Given the description of an element on the screen output the (x, y) to click on. 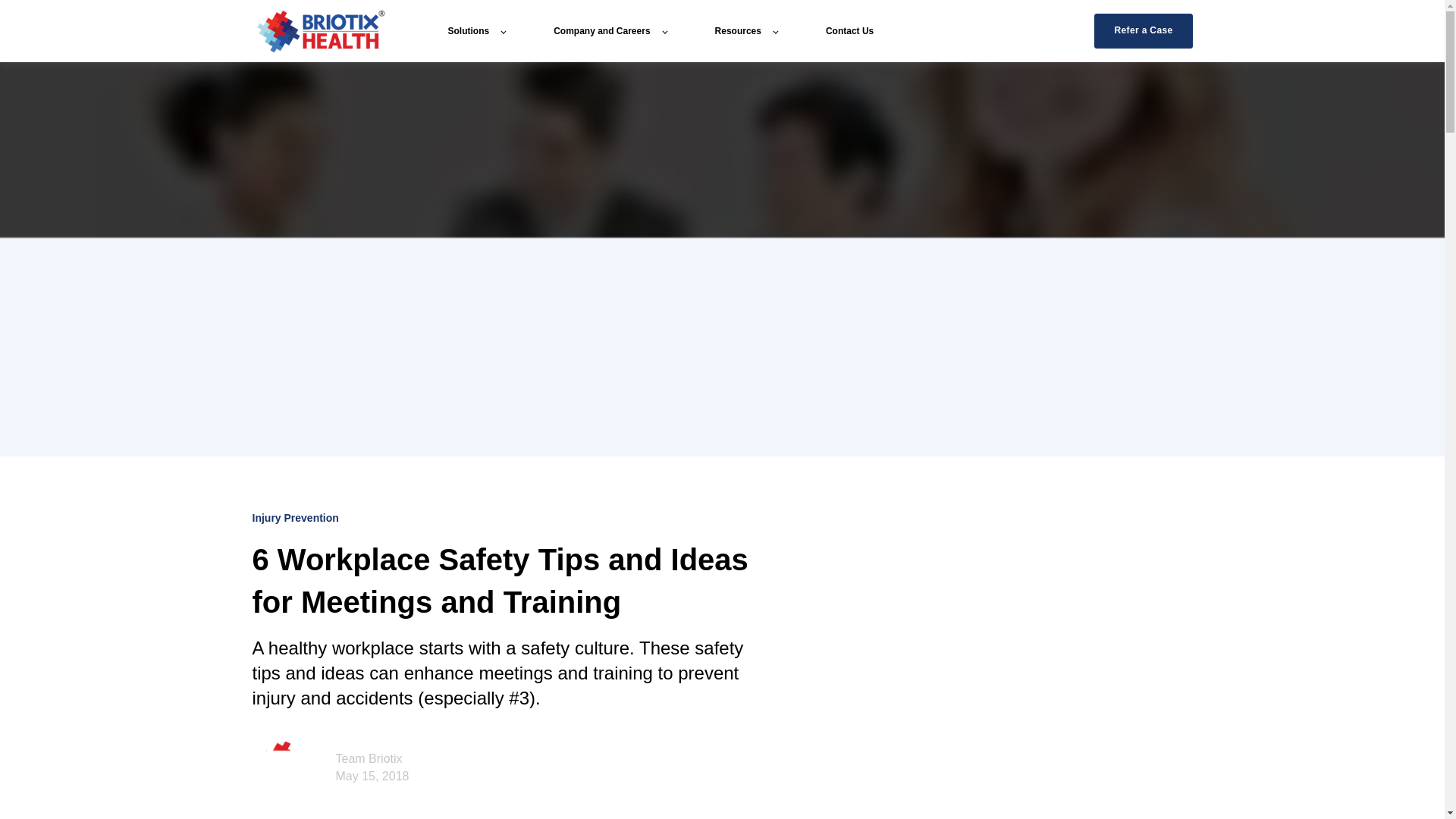
Team Briotix (367, 758)
Resources (745, 30)
Company and Careers (609, 30)
Solutions (475, 30)
Refer a Case (1143, 30)
Contact Us (849, 30)
